Given the description of an element on the screen output the (x, y) to click on. 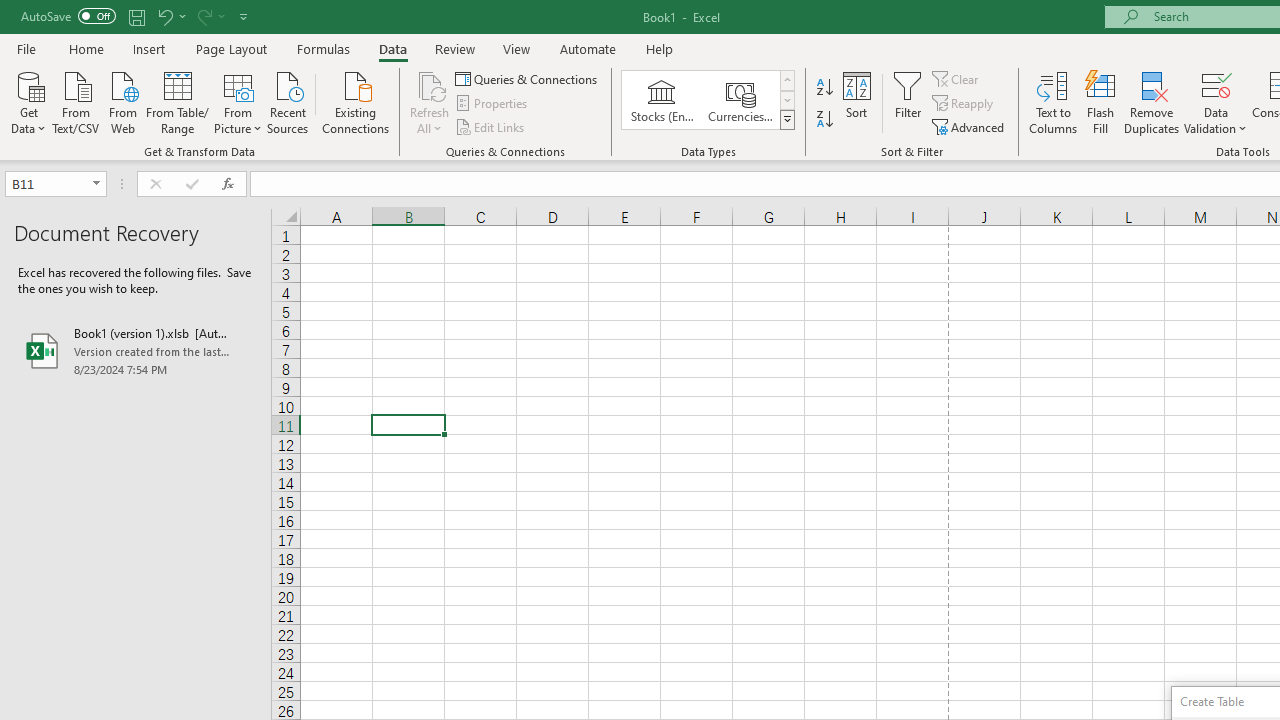
Advanced... (970, 126)
From Picture (238, 101)
Remove Duplicates (1151, 102)
Properties (492, 103)
